Given the description of an element on the screen output the (x, y) to click on. 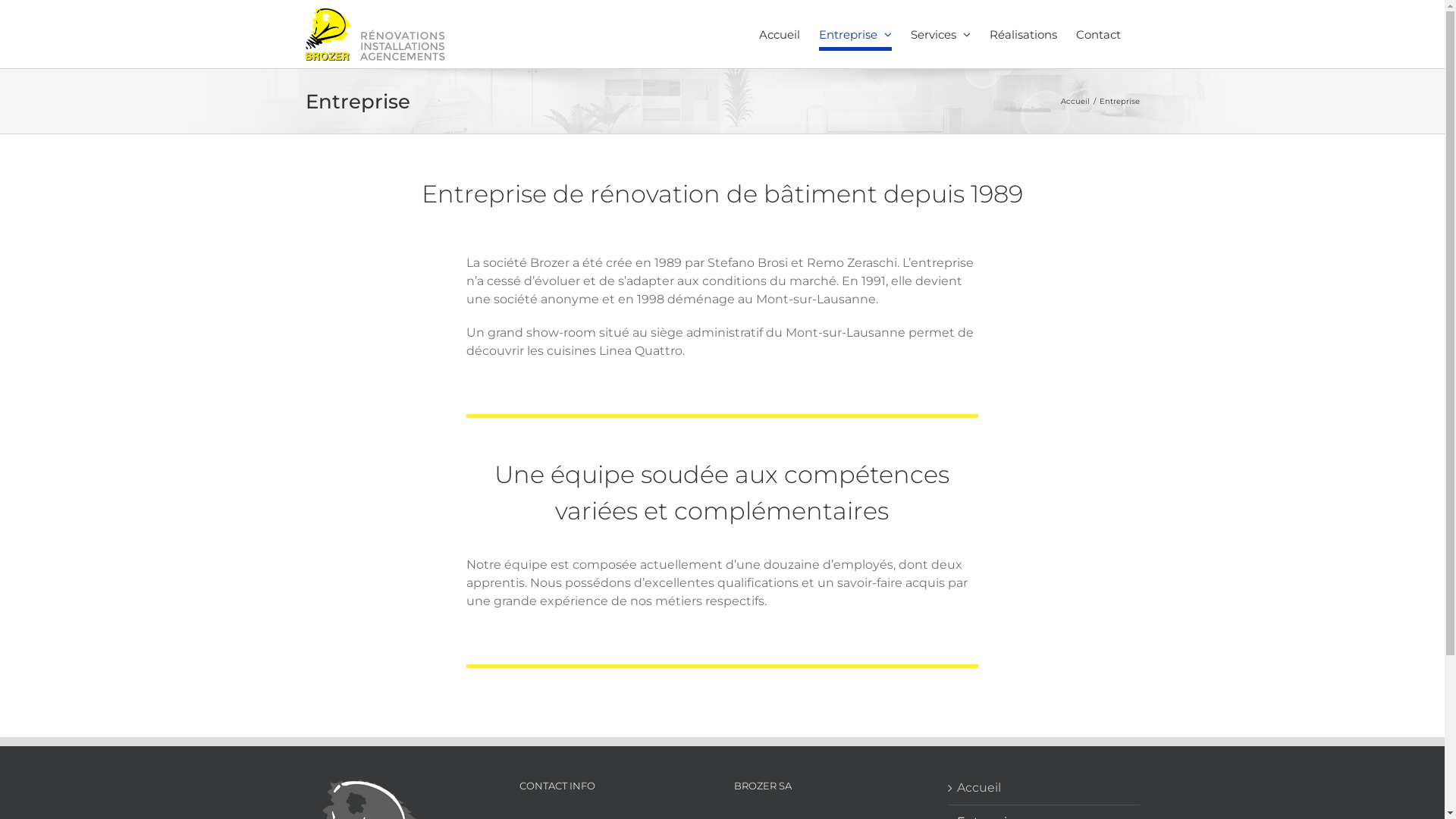
Accueil Element type: text (1044, 787)
Accueil Element type: text (1074, 101)
Entreprise Element type: text (855, 34)
Accueil Element type: text (778, 34)
Services Element type: text (939, 34)
Contact Element type: text (1097, 34)
